Given the description of an element on the screen output the (x, y) to click on. 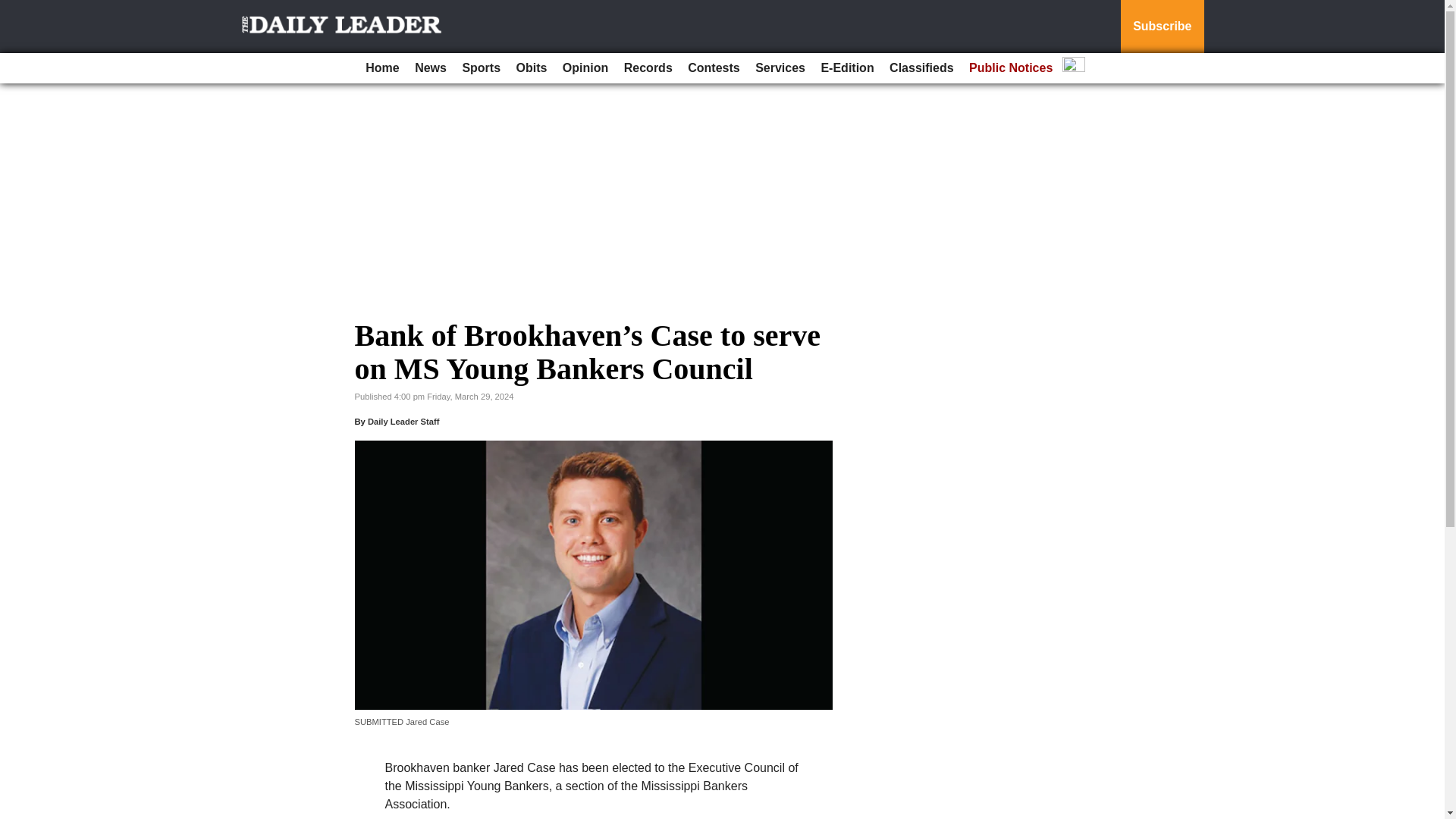
Records (647, 68)
Services (779, 68)
Opinion (585, 68)
Public Notices (1010, 68)
News (430, 68)
Obits (532, 68)
Subscribe (1162, 26)
Classifieds (921, 68)
Go (13, 9)
Sports (480, 68)
Contests (713, 68)
E-Edition (846, 68)
Daily Leader Staff (403, 420)
Home (381, 68)
